Given the description of an element on the screen output the (x, y) to click on. 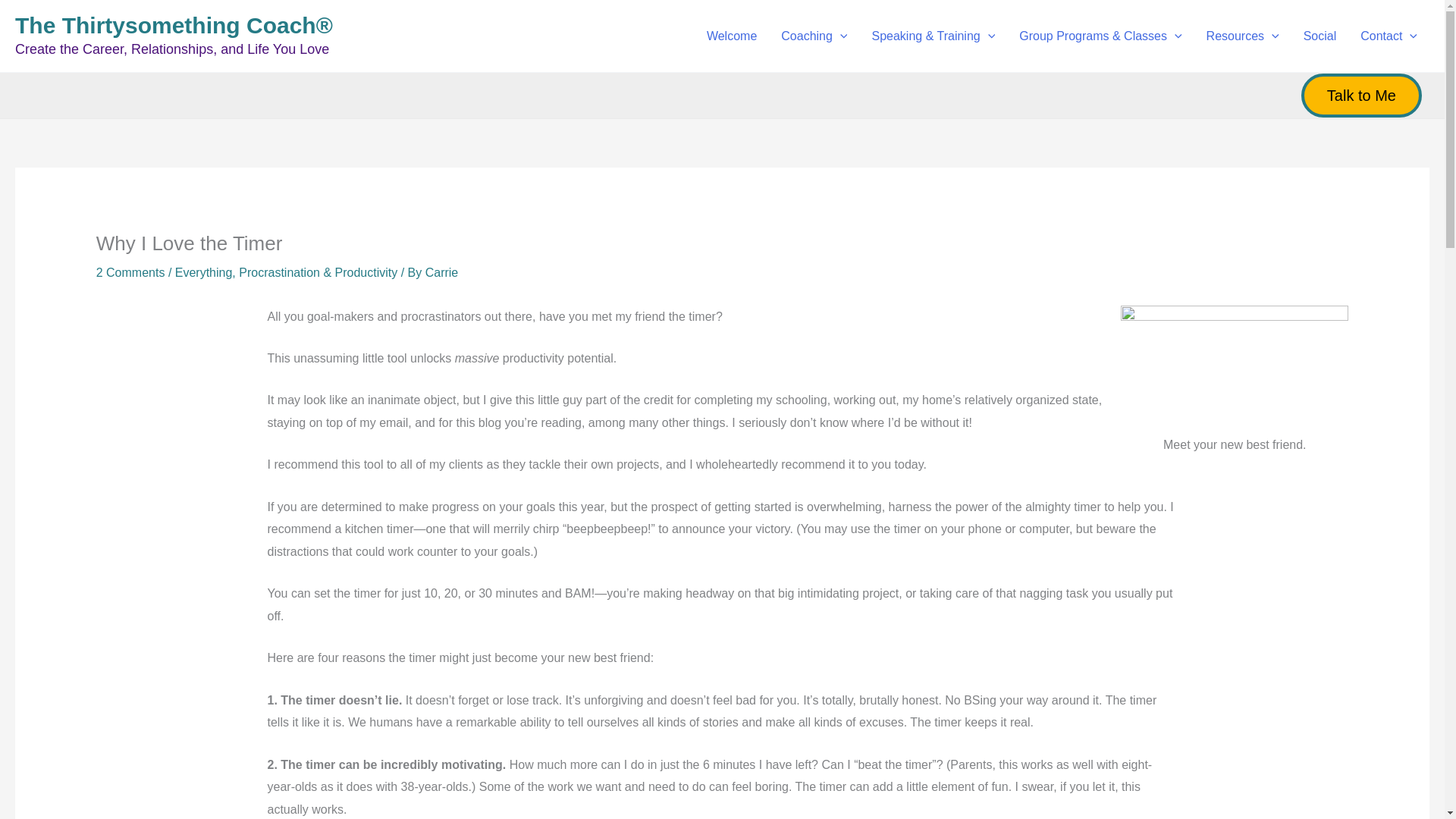
Coaching (813, 35)
Timer (1234, 364)
Social (1320, 35)
View all posts by Carrie (441, 272)
Welcome (731, 35)
Talk to Me (1361, 95)
Resources (1242, 35)
Contact (1388, 35)
Welcome (731, 35)
